Given the description of an element on the screen output the (x, y) to click on. 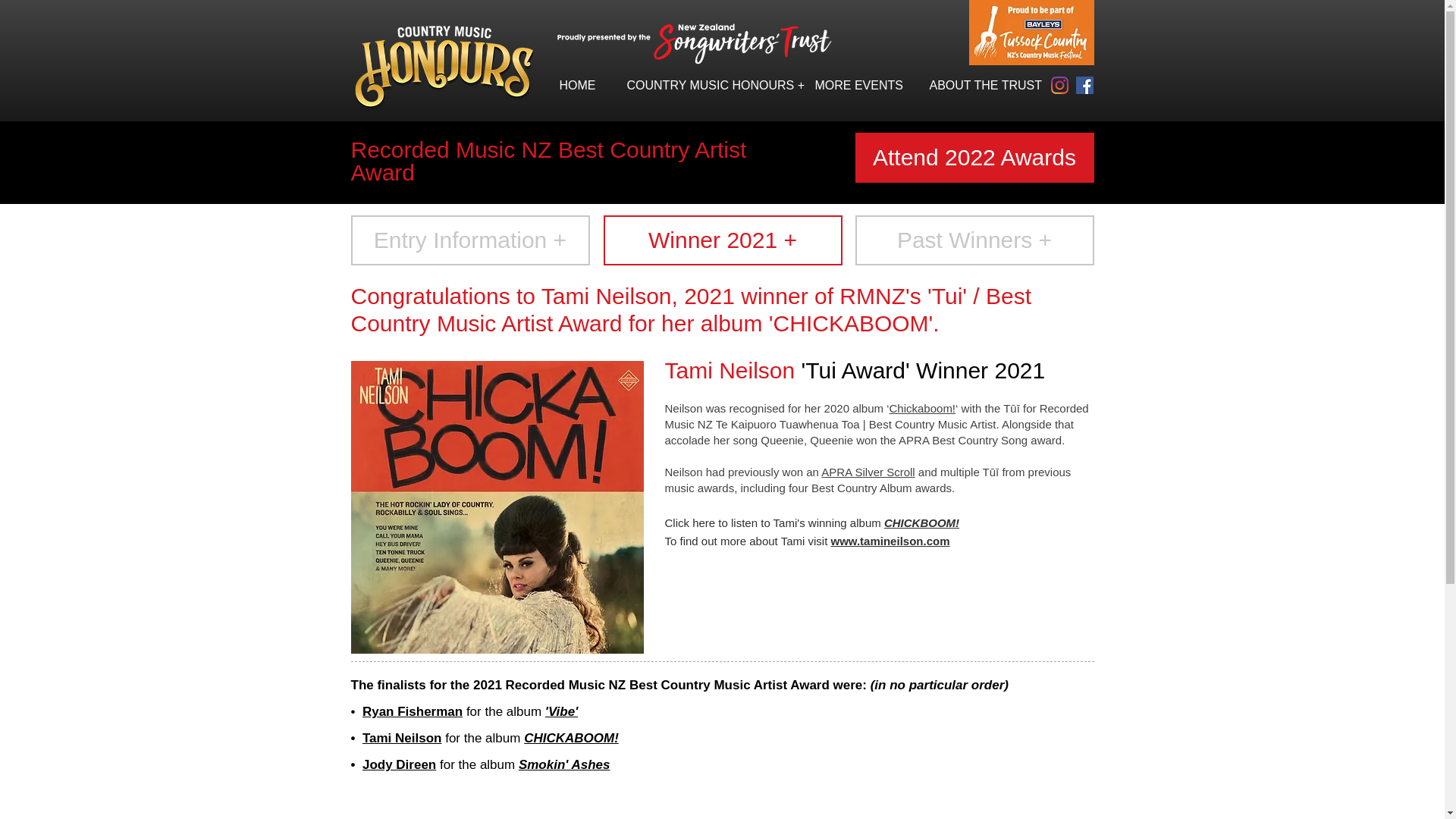
CHICKBOOM! (921, 522)
www.tamineilson.com (890, 540)
Ryan Fisherman (412, 711)
MORE EVENTS (860, 84)
APRA Silver Scroll (867, 472)
Jody Direen (398, 764)
Tami Neilson (402, 738)
Chickaboom! (921, 408)
Attend 2022 Awards (975, 157)
Smokin' Ashes (564, 764)
